Given the description of an element on the screen output the (x, y) to click on. 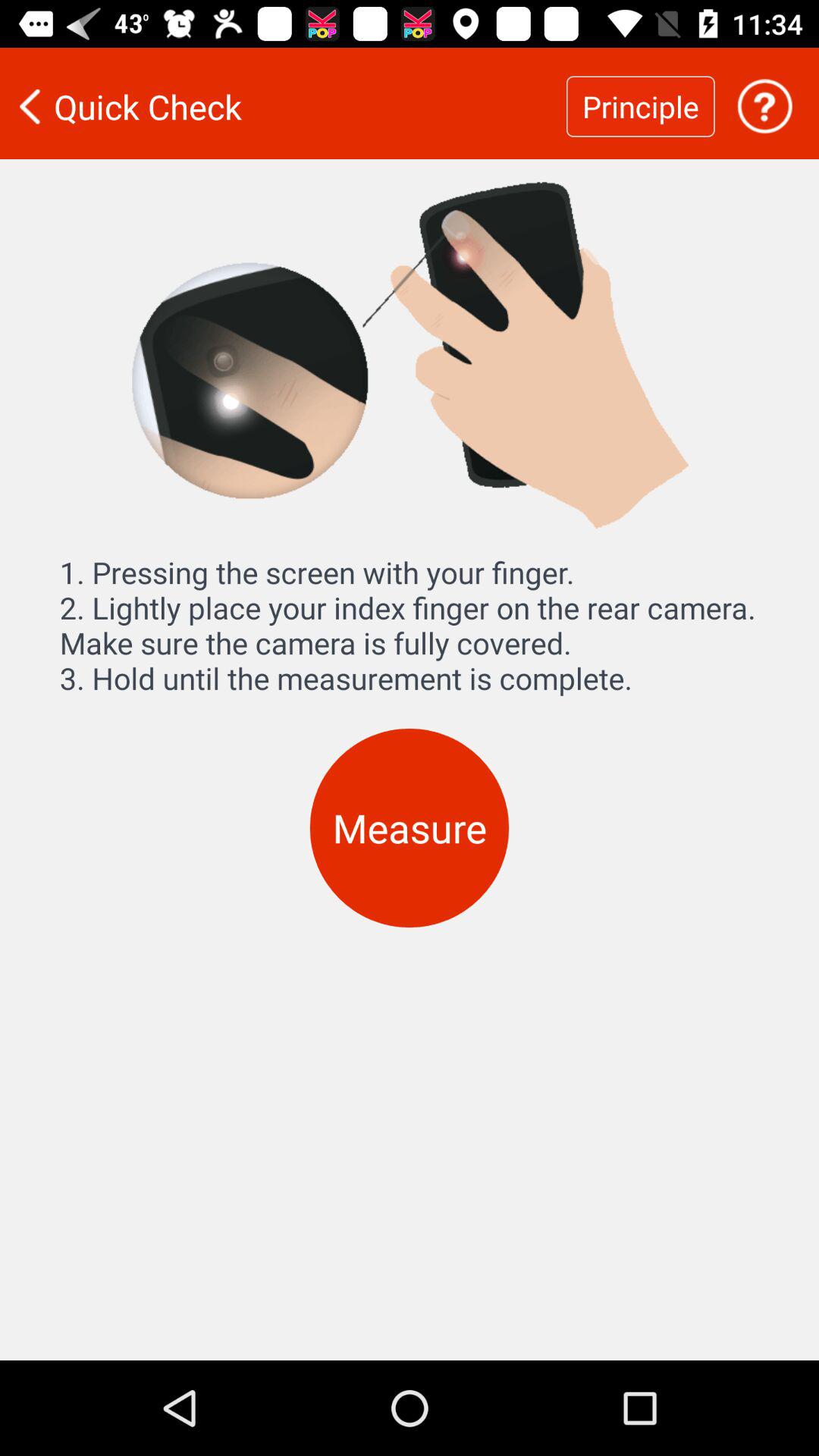
open the measure (409, 827)
